Given the description of an element on the screen output the (x, y) to click on. 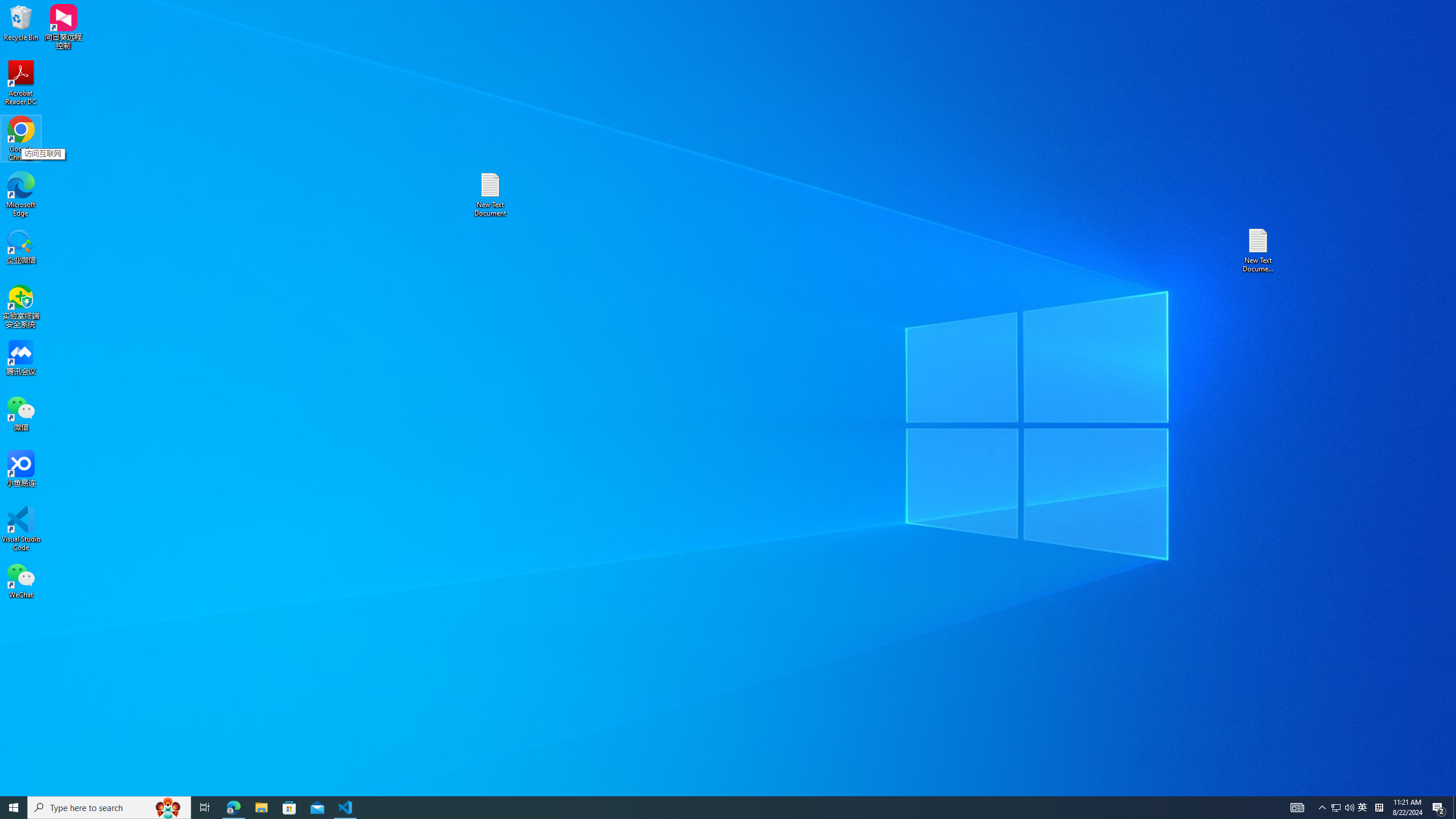
Q2790: 100% (1349, 807)
Tray Input Indicator - Chinese (Simplified, China) (1378, 807)
Microsoft Edge - 1 running window (233, 807)
Acrobat Reader DC (21, 82)
Show desktop (1454, 807)
File Explorer (1335, 807)
Visual Studio Code - 1 running window (261, 807)
Notification Chevron (345, 807)
New Text Document (1322, 807)
